Given the description of an element on the screen output the (x, y) to click on. 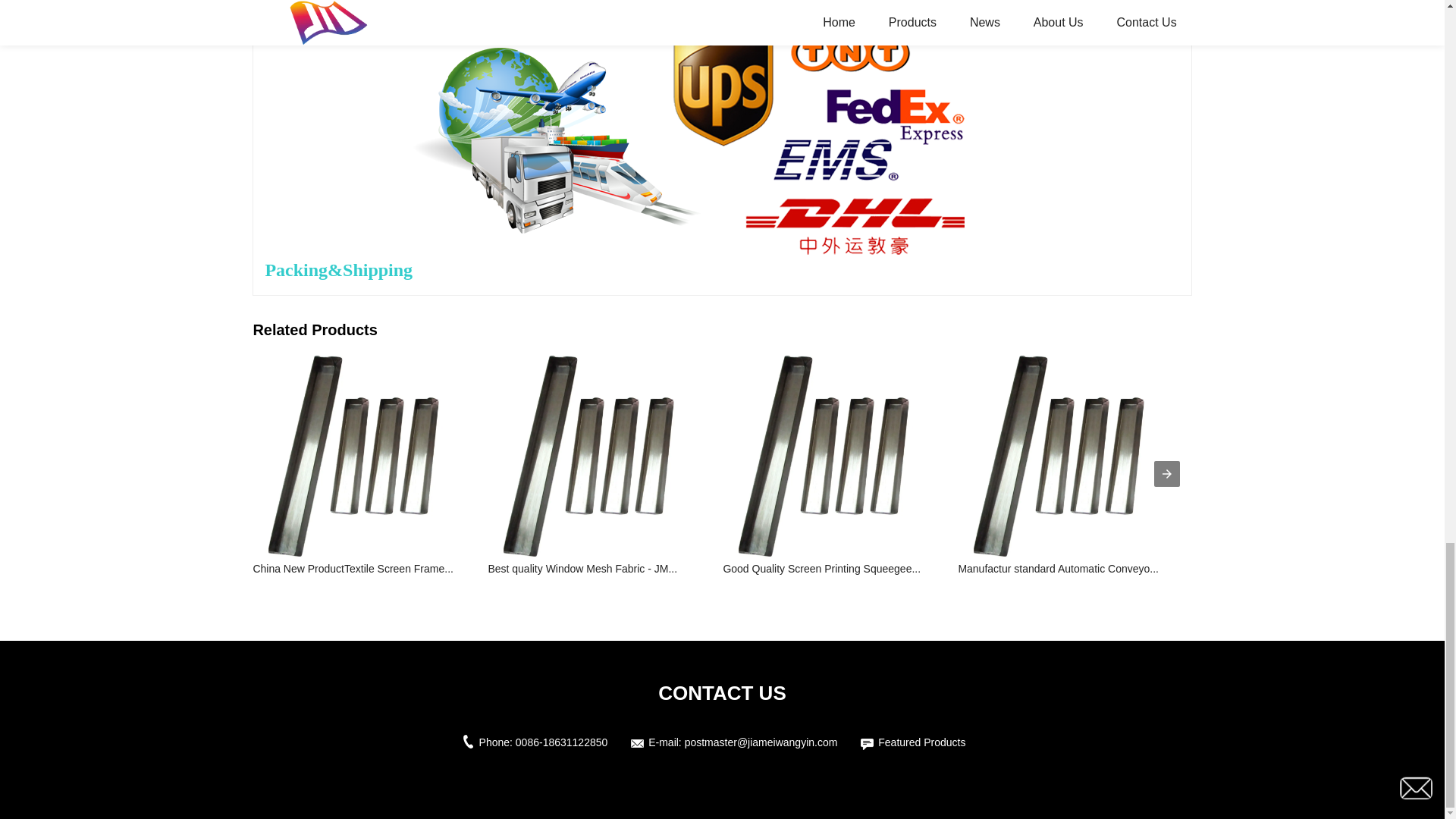
Next item in carousel (1166, 473)
